Given the description of an element on the screen output the (x, y) to click on. 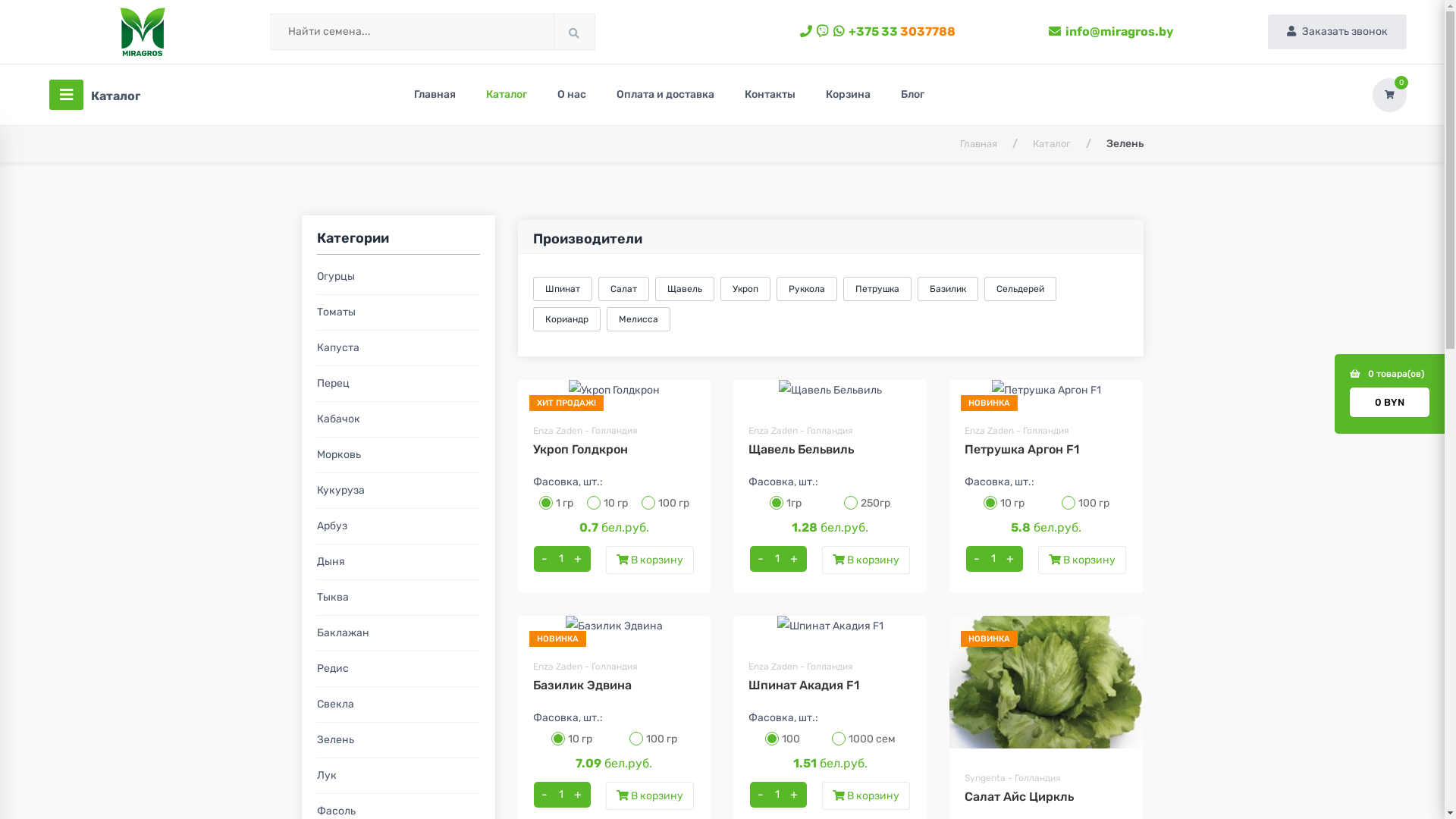
- Element type: text (760, 558)
0 Element type: text (1389, 95)
+ Element type: text (793, 558)
- Element type: text (544, 558)
+ Element type: text (1009, 558)
+ Element type: text (577, 558)
+375 33 3037788 Element type: text (877, 31)
+ Element type: text (793, 794)
- Element type: text (544, 794)
- Element type: text (760, 794)
+ Element type: text (577, 794)
- Element type: text (976, 558)
info@miragros.by Element type: text (1110, 31)
